Given the description of an element on the screen output the (x, y) to click on. 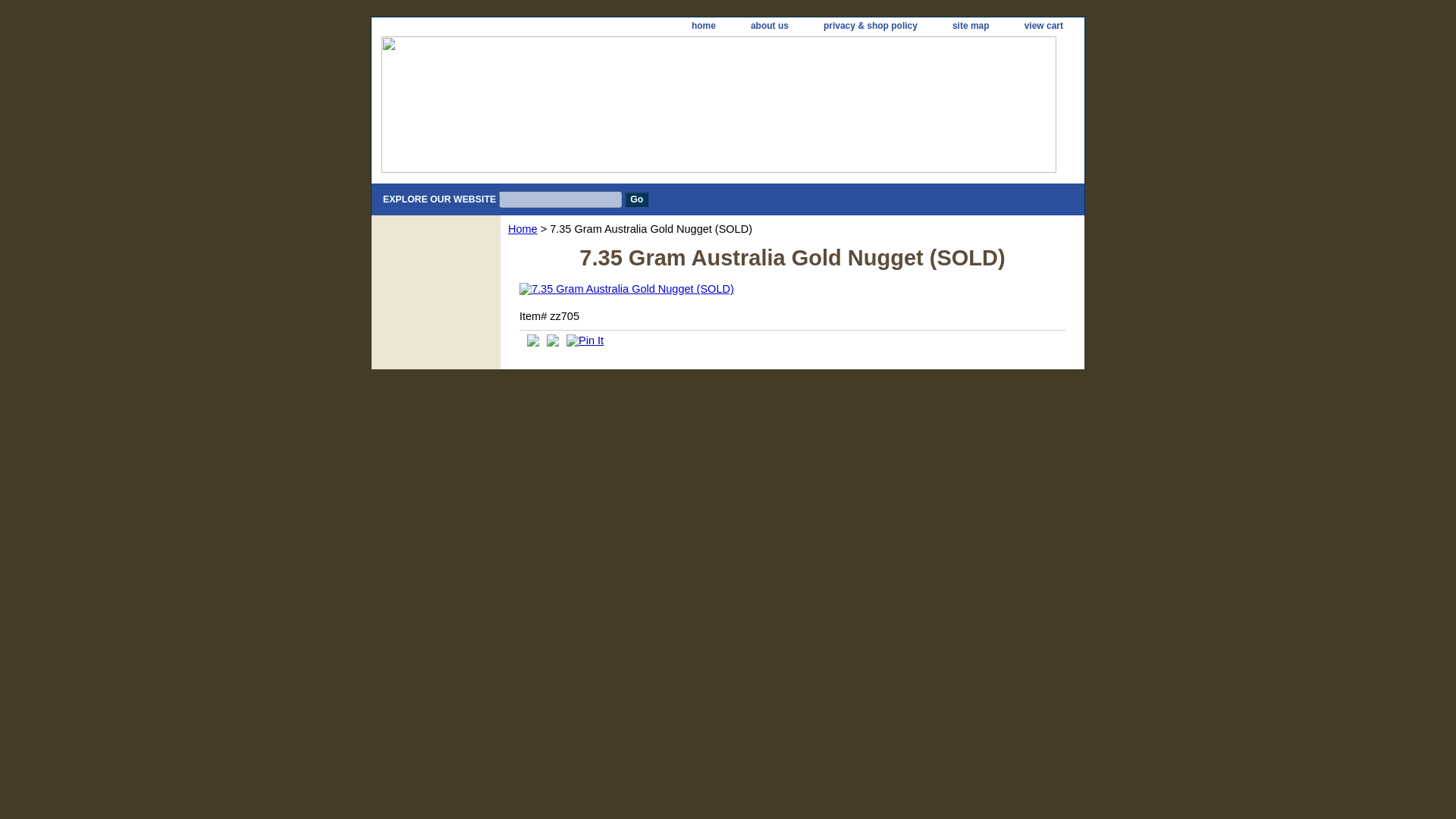
Go (635, 199)
Pin It (585, 340)
site map (970, 26)
Tweet (532, 342)
view cart (1043, 26)
about us (769, 26)
home (703, 26)
Go (635, 199)
Home (522, 228)
